Given the description of an element on the screen output the (x, y) to click on. 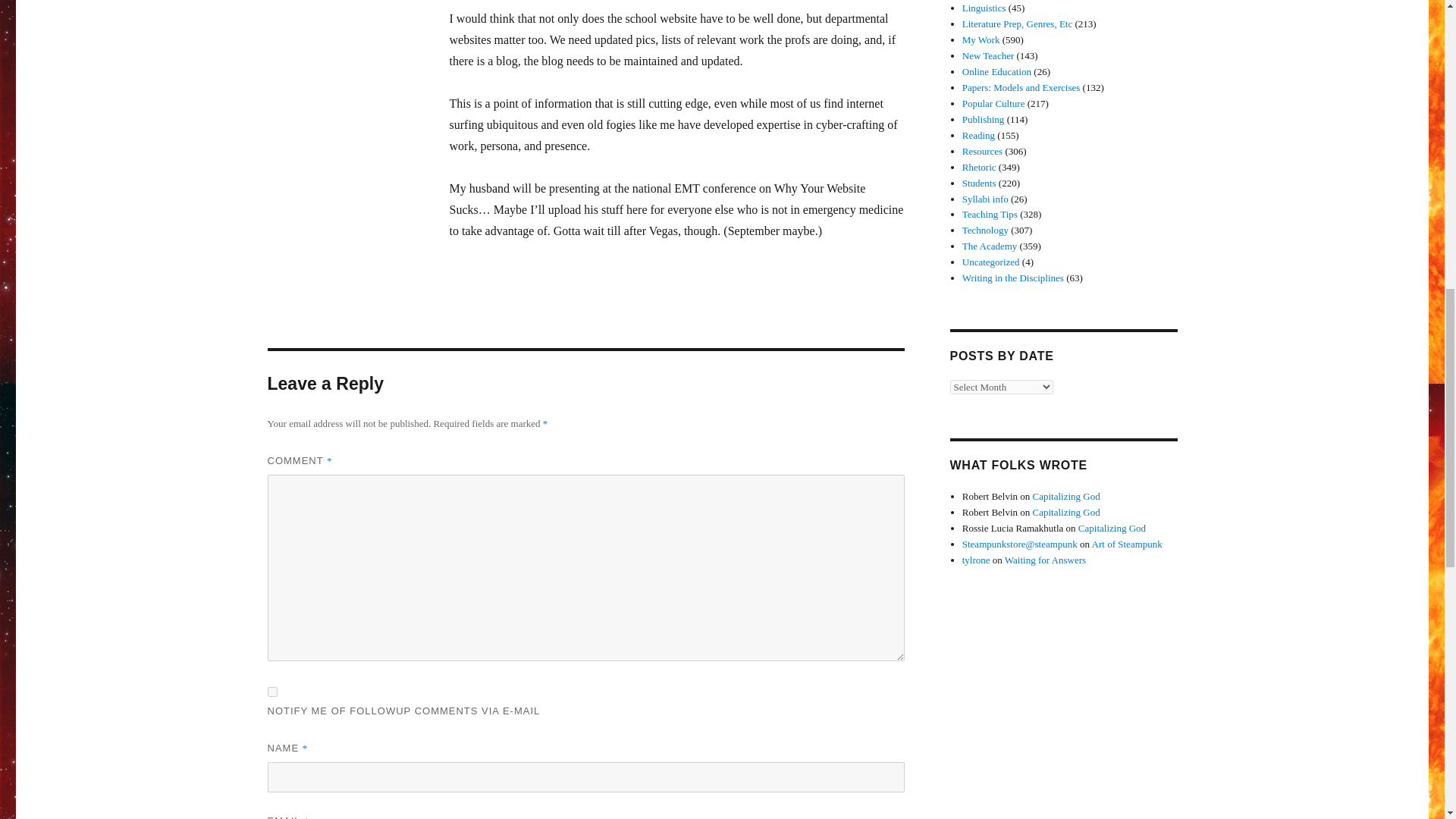
Online Education (996, 71)
New Teacher (988, 55)
My Work (981, 39)
Reading (978, 134)
Popular Culture (993, 102)
Resources (982, 151)
Papers: Models and Exercises (1021, 87)
Linguistics (984, 7)
subscribe (271, 691)
Publishing (983, 119)
Literature Prep, Genres, Etc (1016, 23)
